Given the description of an element on the screen output the (x, y) to click on. 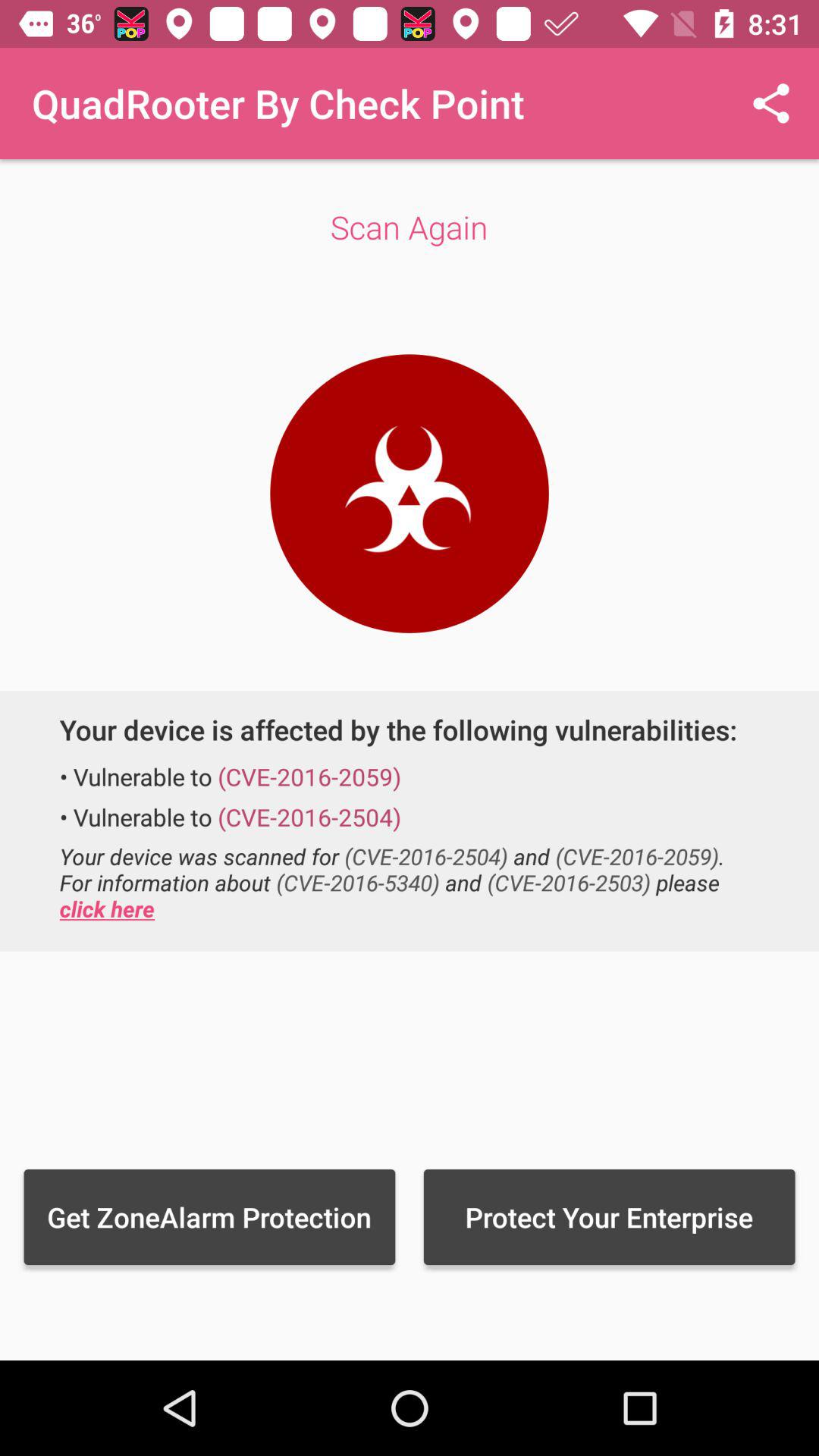
choose the item next to the quadrooter by check app (771, 103)
